Given the description of an element on the screen output the (x, y) to click on. 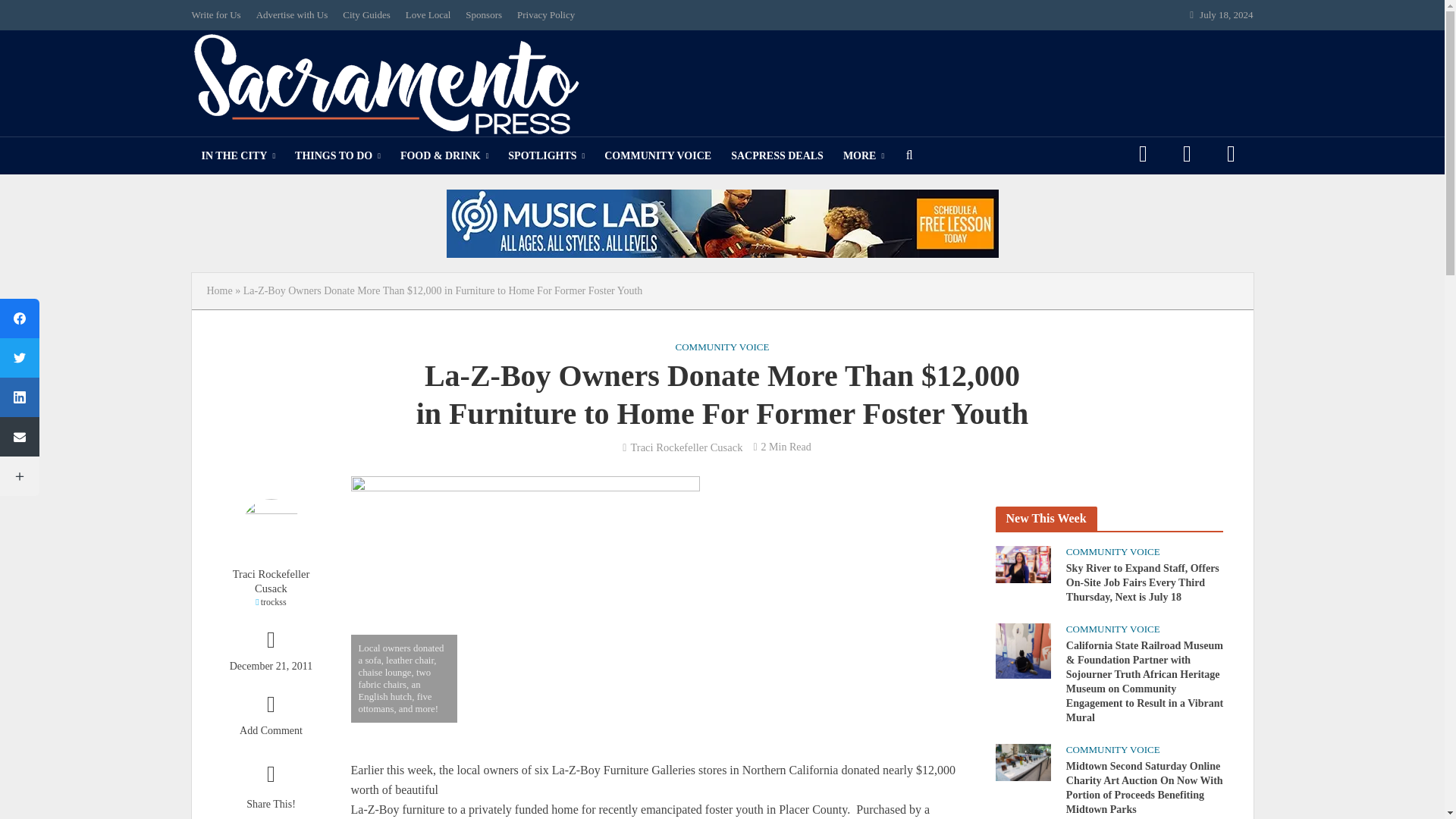
MORE (862, 156)
THINGS TO DO (337, 156)
Write for Us (218, 15)
Sponsors (483, 15)
SACPRESS DEALS (776, 156)
COMMUNITY VOICE (657, 156)
Love Local (427, 15)
City Guides (365, 15)
Privacy Policy (545, 15)
IN THE CITY (237, 156)
SPOTLIGHTS (545, 156)
Advertise with Us (292, 15)
